Given the description of an element on the screen output the (x, y) to click on. 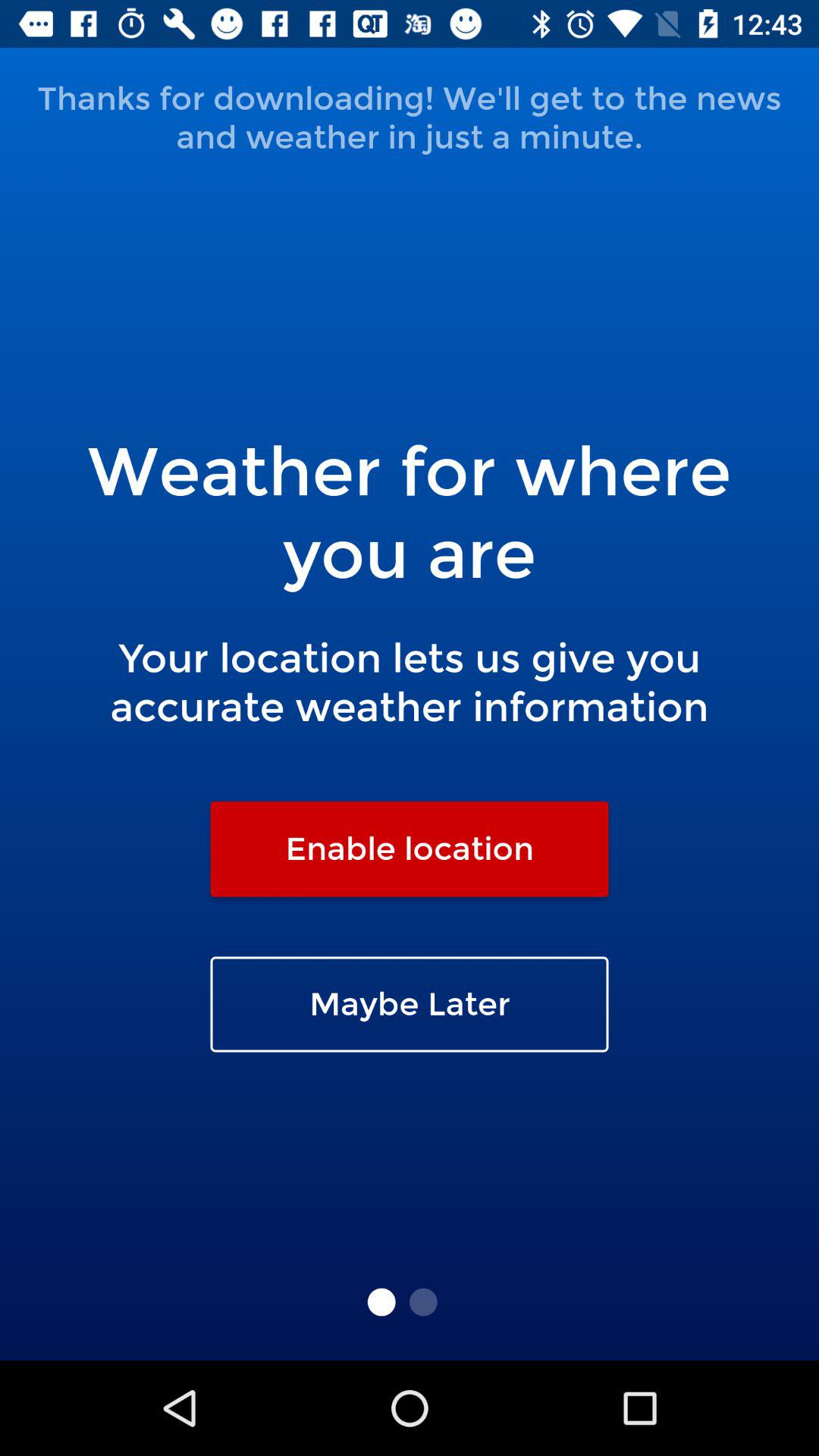
turn off maybe later icon (409, 1004)
